Given the description of an element on the screen output the (x, y) to click on. 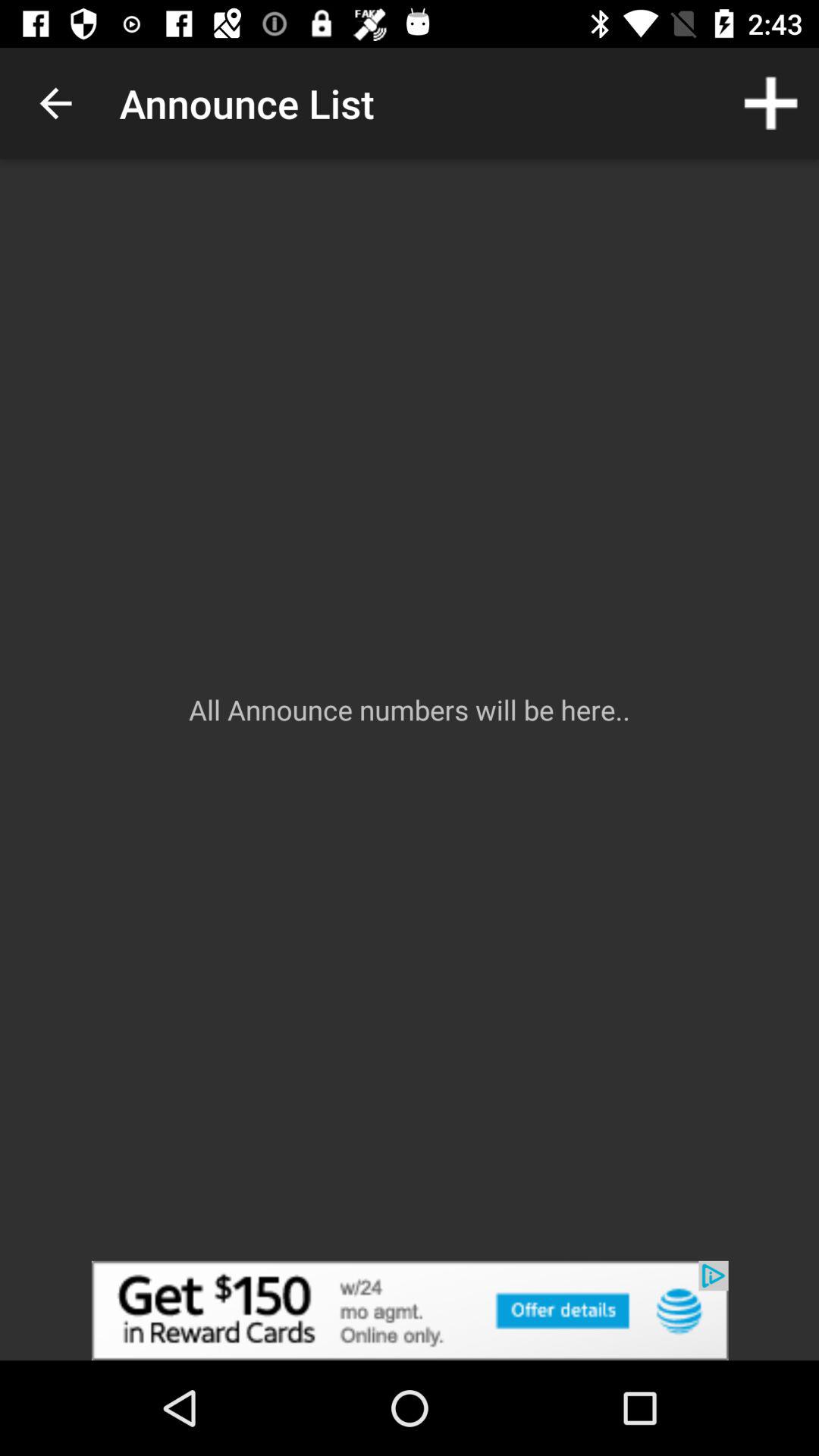
advertisement (409, 1310)
